Given the description of an element on the screen output the (x, y) to click on. 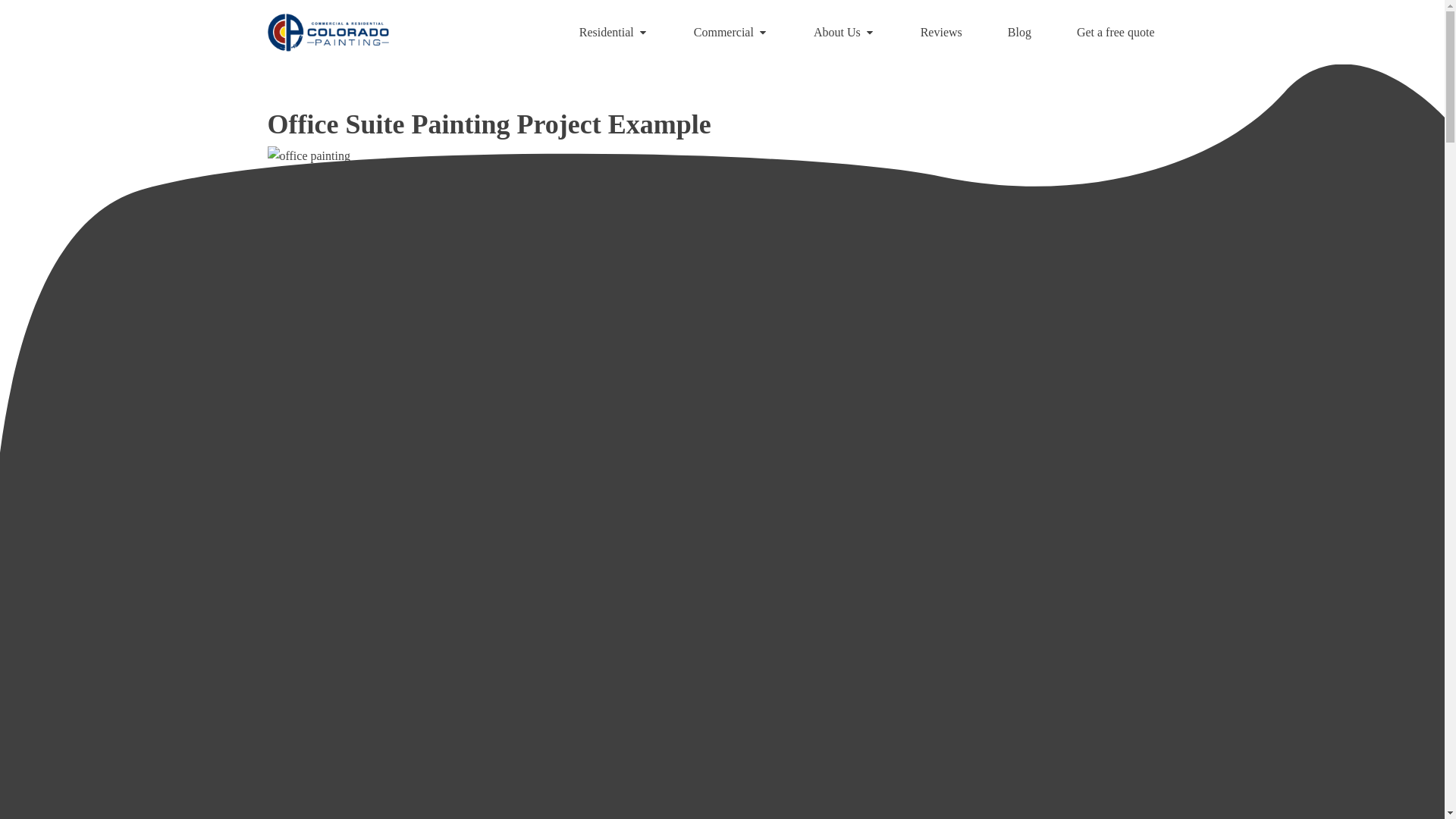
Commercial (730, 32)
Residential (613, 32)
About Us (844, 32)
Blog (1019, 32)
Reviews (941, 32)
Get a free quote (1115, 32)
